Given the description of an element on the screen output the (x, y) to click on. 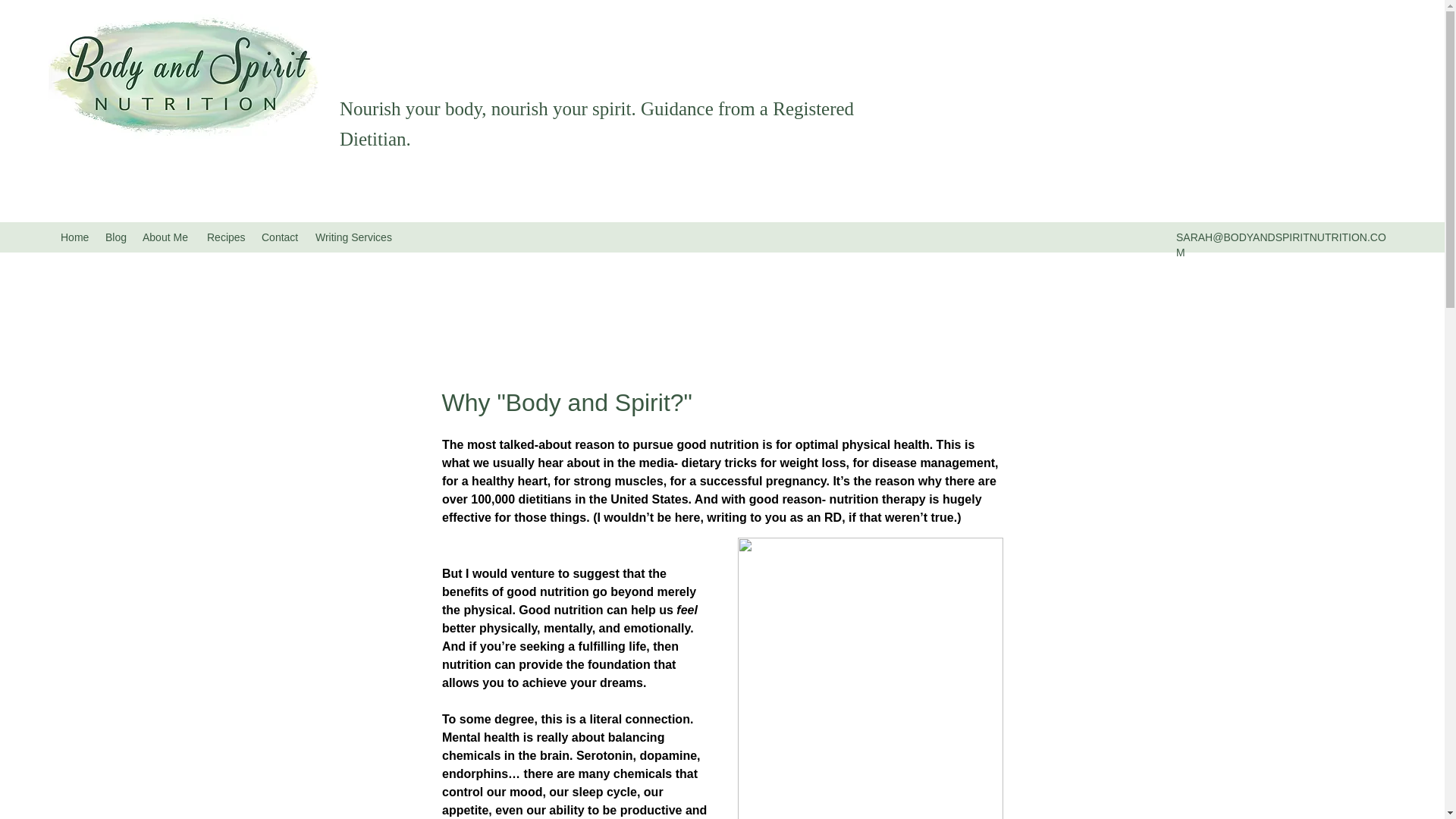
Home (74, 237)
Recipes (226, 237)
Writing Services (355, 237)
About Me (167, 237)
Blog (116, 237)
Contact (280, 237)
